Given the description of an element on the screen output the (x, y) to click on. 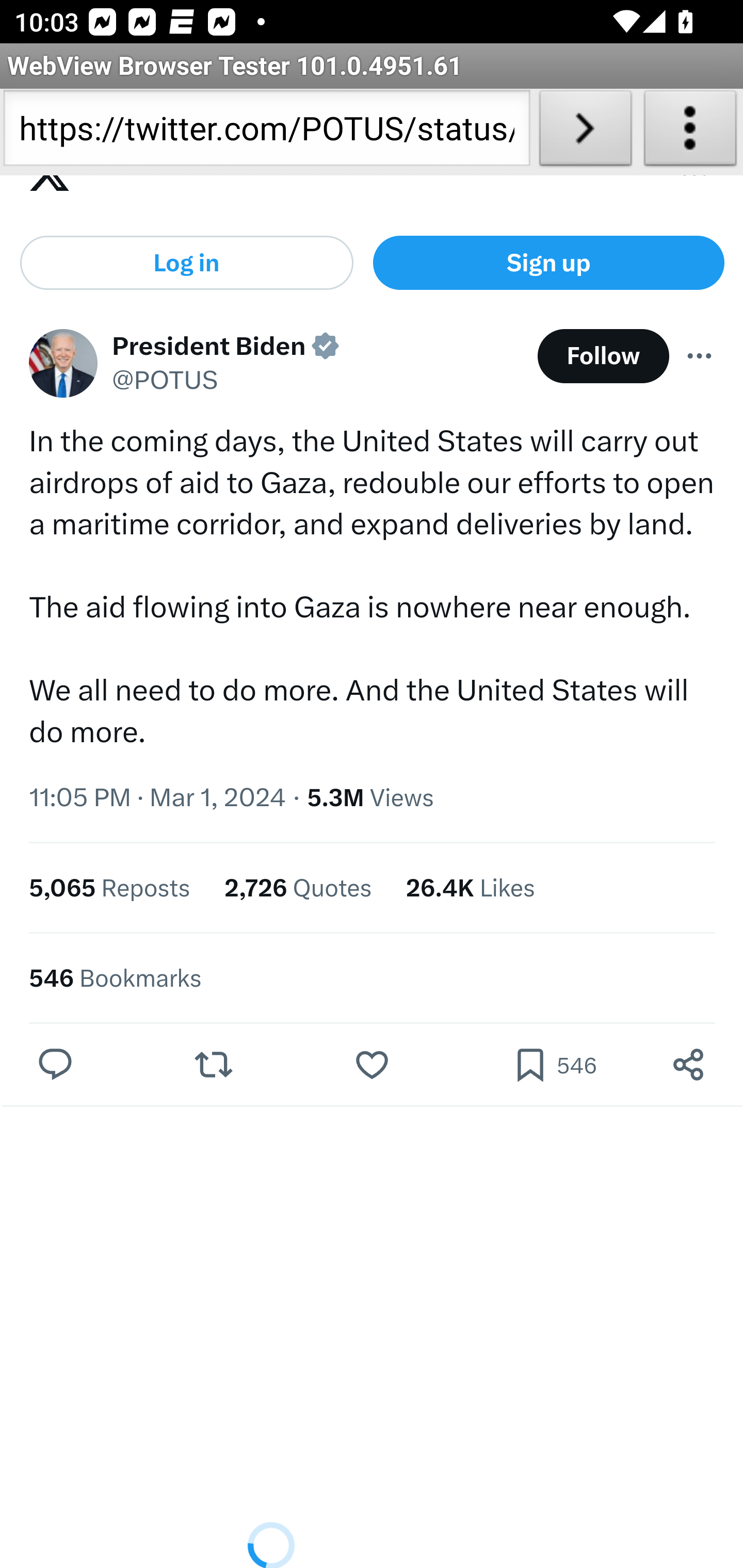
Load URL (585, 132)
About WebView (690, 132)
POTUS (63, 362)
Follow @POTUS (602, 355)
More (699, 355)
@POTUS (165, 381)
11:05 PM · Mar 1, 2024 (157, 796)
5,065 Reposts 5,065   Reposts (109, 887)
2,726 Quotes 2,726   Quotes (298, 887)
26.4K Likes 26.4K   Likes (470, 887)
Reply (55, 1065)
Repost (212, 1065)
Like (371, 1065)
546 Bookmarks. Bookmark (554, 1065)
Share post (688, 1065)
